Given the description of an element on the screen output the (x, y) to click on. 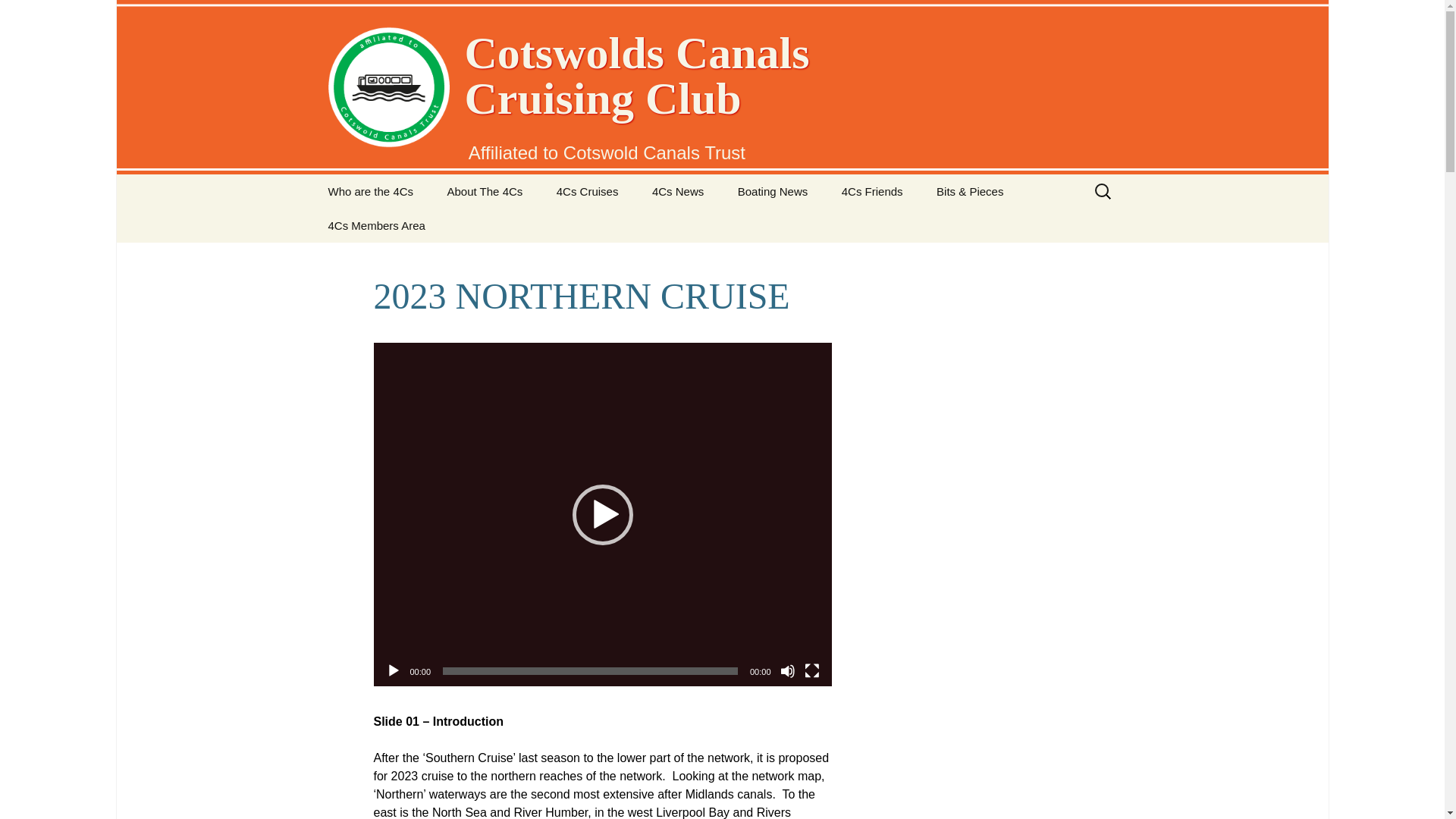
4Cs Members Area (376, 225)
4Cs Cruises (587, 191)
Fullscreen (810, 670)
Who are the 4Cs (370, 191)
4Cs Friends (872, 191)
4Cs News (678, 191)
Mute (786, 670)
Search (18, 15)
Play (392, 670)
Boating News (773, 191)
About The 4Cs (485, 191)
